Given the description of an element on the screen output the (x, y) to click on. 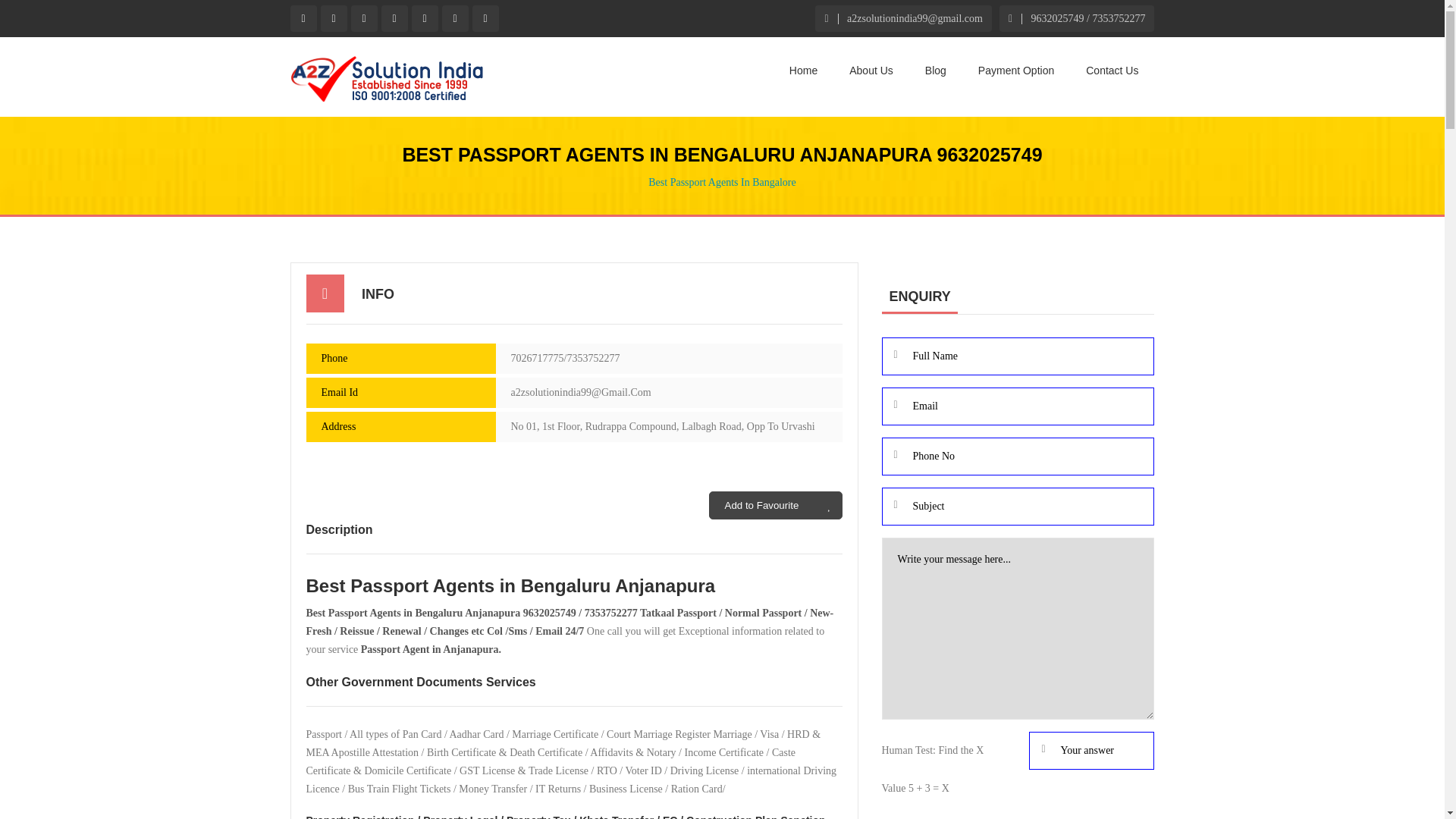
Add to Favourite (775, 505)
Blog (935, 70)
Payment Option (1015, 70)
Home (803, 70)
Add to Favourite (775, 505)
Contact Us (1111, 70)
About Us (871, 70)
Best Passport Agents In Bangalore (720, 182)
View all posts in Best Passport Agents In Bangalore (720, 182)
